Given the description of an element on the screen output the (x, y) to click on. 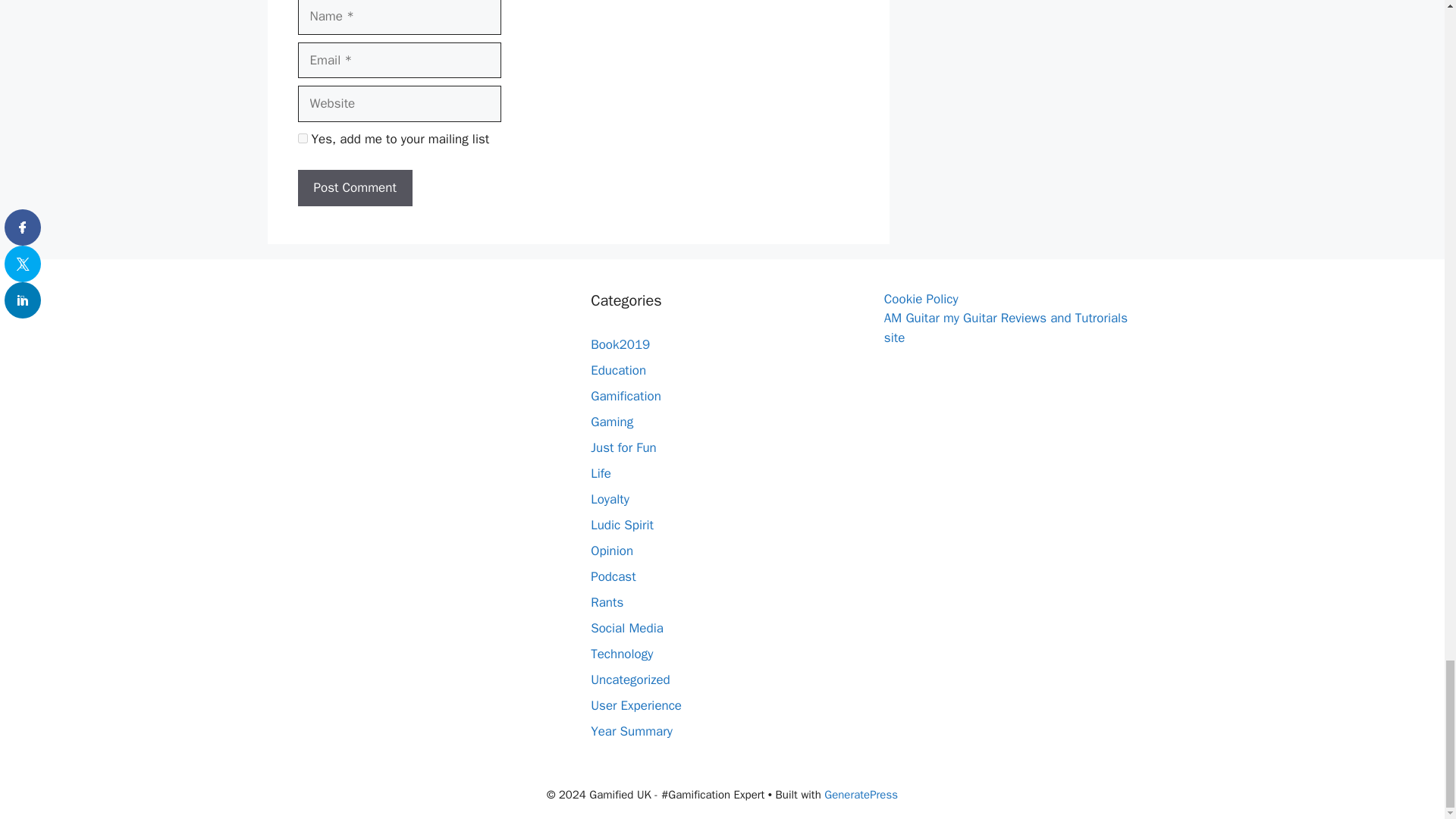
Post Comment (354, 187)
1 (302, 138)
